Given the description of an element on the screen output the (x, y) to click on. 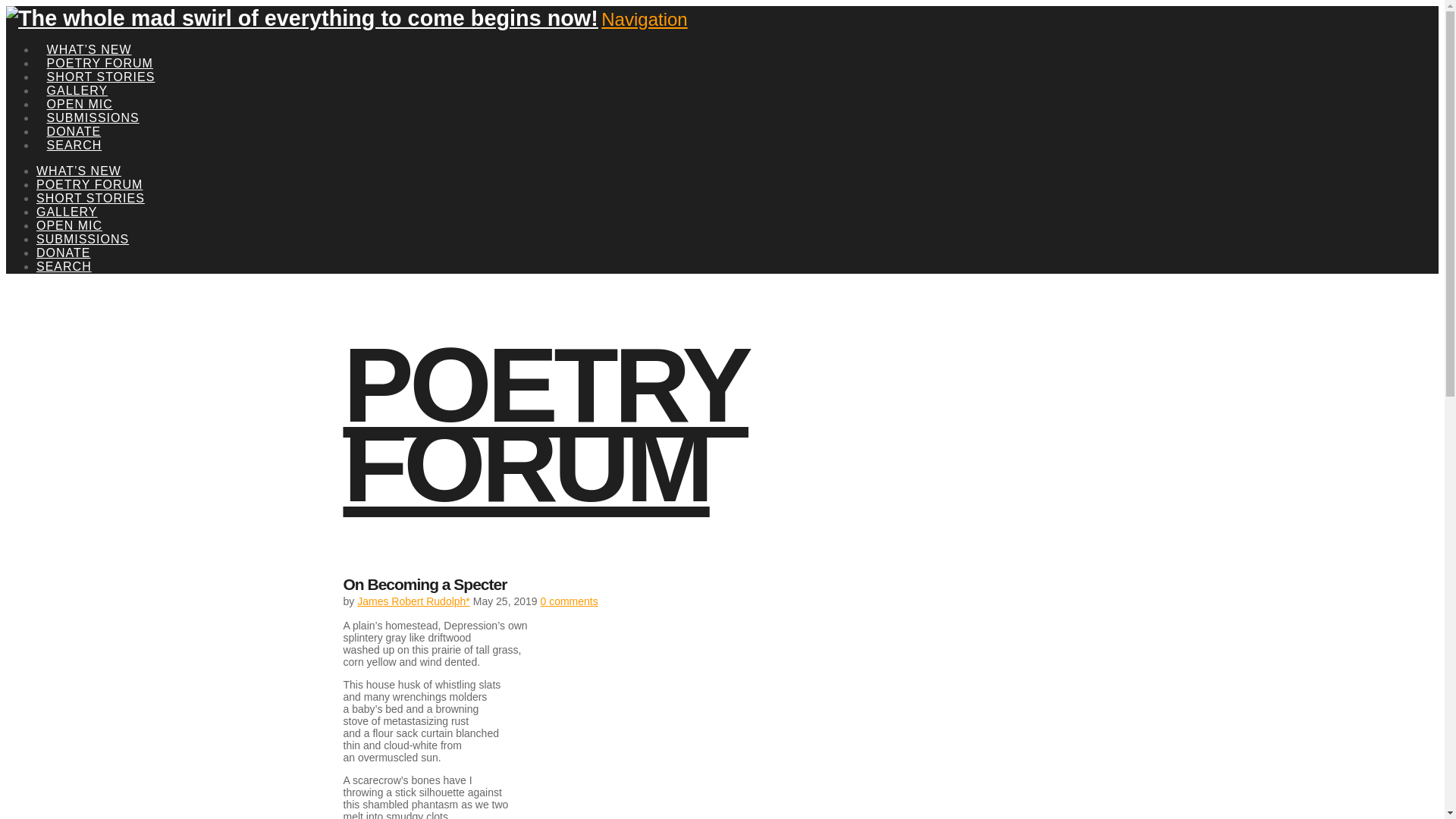
GALLERY (76, 73)
OPEN MIC (79, 86)
SUBMISSIONS (82, 238)
DONATE (63, 252)
0 comments (568, 601)
SHORT STORIES (100, 59)
SHORT STORIES (90, 197)
POETRY FORUM (545, 424)
SUBMISSIONS (92, 100)
Poetry (545, 424)
